Given the description of an element on the screen output the (x, y) to click on. 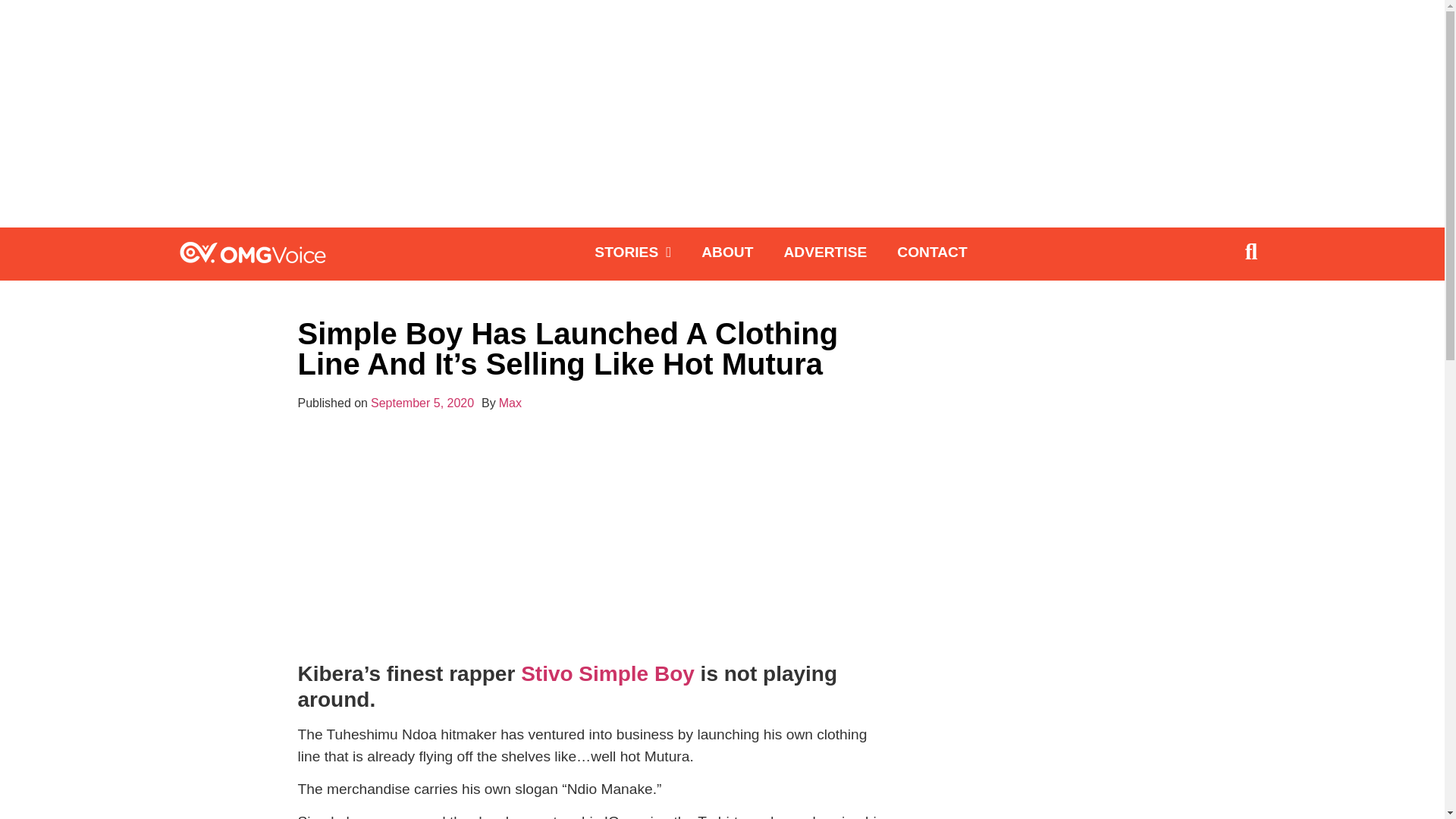
Stivo Simple Boy (607, 673)
Max (510, 402)
September 5, 2020 (422, 402)
CONTACT (931, 252)
ADVERTISE (825, 252)
STORIES (632, 252)
ABOUT (726, 252)
